Given the description of an element on the screen output the (x, y) to click on. 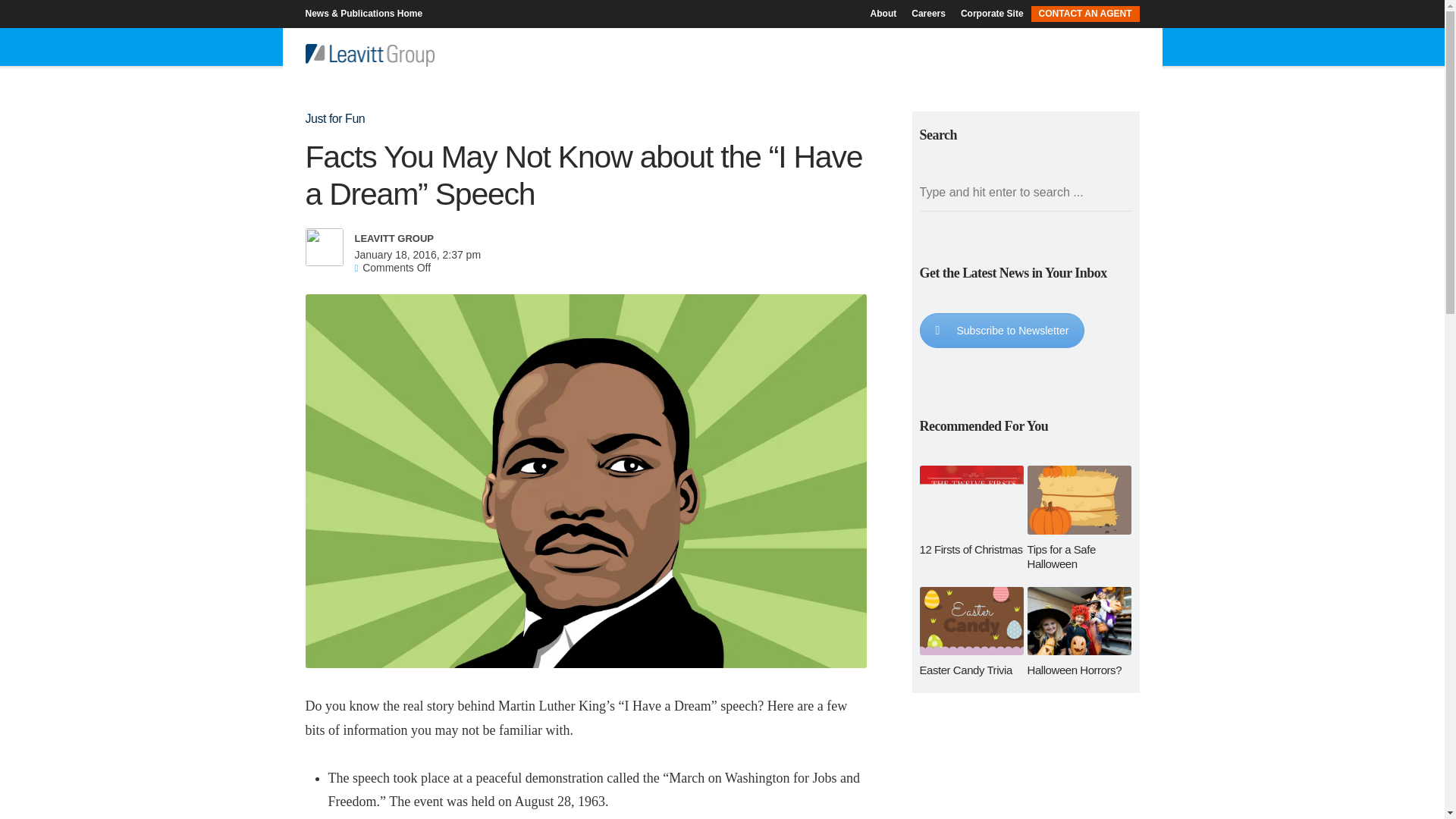
Business Insurance Articles (571, 46)
Contact an Agent (1081, 13)
Type and hit enter to search ... (1024, 192)
Type and hit enter to search ... (1024, 192)
Subscribe to Newsletter (1001, 330)
Employee Benefits Compliance (805, 46)
Halloween Horrors? (1079, 632)
12 Firsts of Christmas (970, 511)
News (932, 46)
BUSINESS (571, 46)
Personal Insurance Articles (495, 46)
Tips for a Safe Halloween (1079, 518)
About (887, 13)
Corporate Site (991, 13)
NEWS (932, 46)
